Given the description of an element on the screen output the (x, y) to click on. 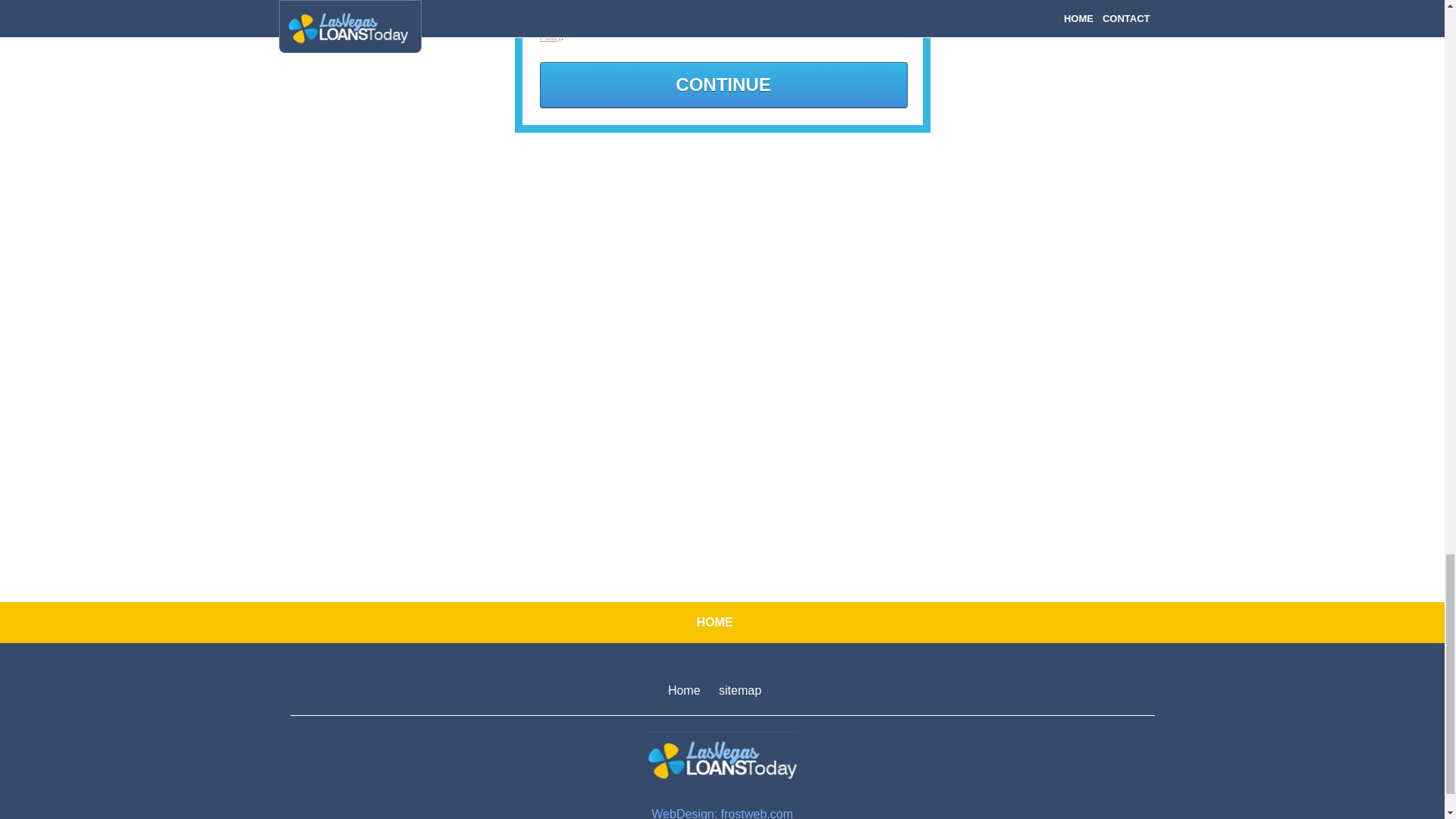
Home (684, 689)
sitemap (740, 689)
HOME (713, 621)
